Given the description of an element on the screen output the (x, y) to click on. 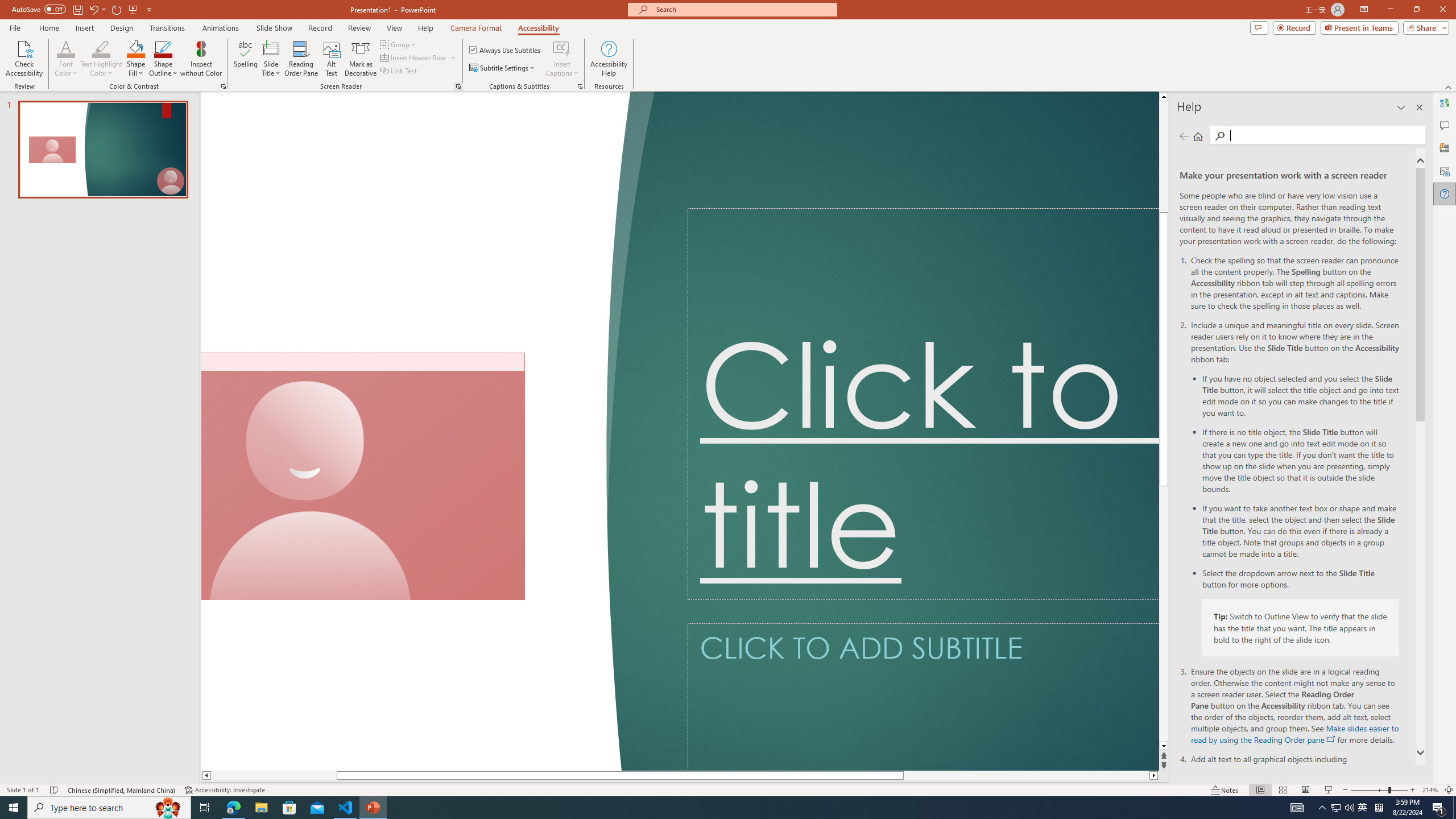
Slide Title (271, 48)
Captions & Subtitles (580, 85)
Spelling... (245, 58)
Screen Reader (458, 85)
Zoom 214% (1430, 790)
